Given the description of an element on the screen output the (x, y) to click on. 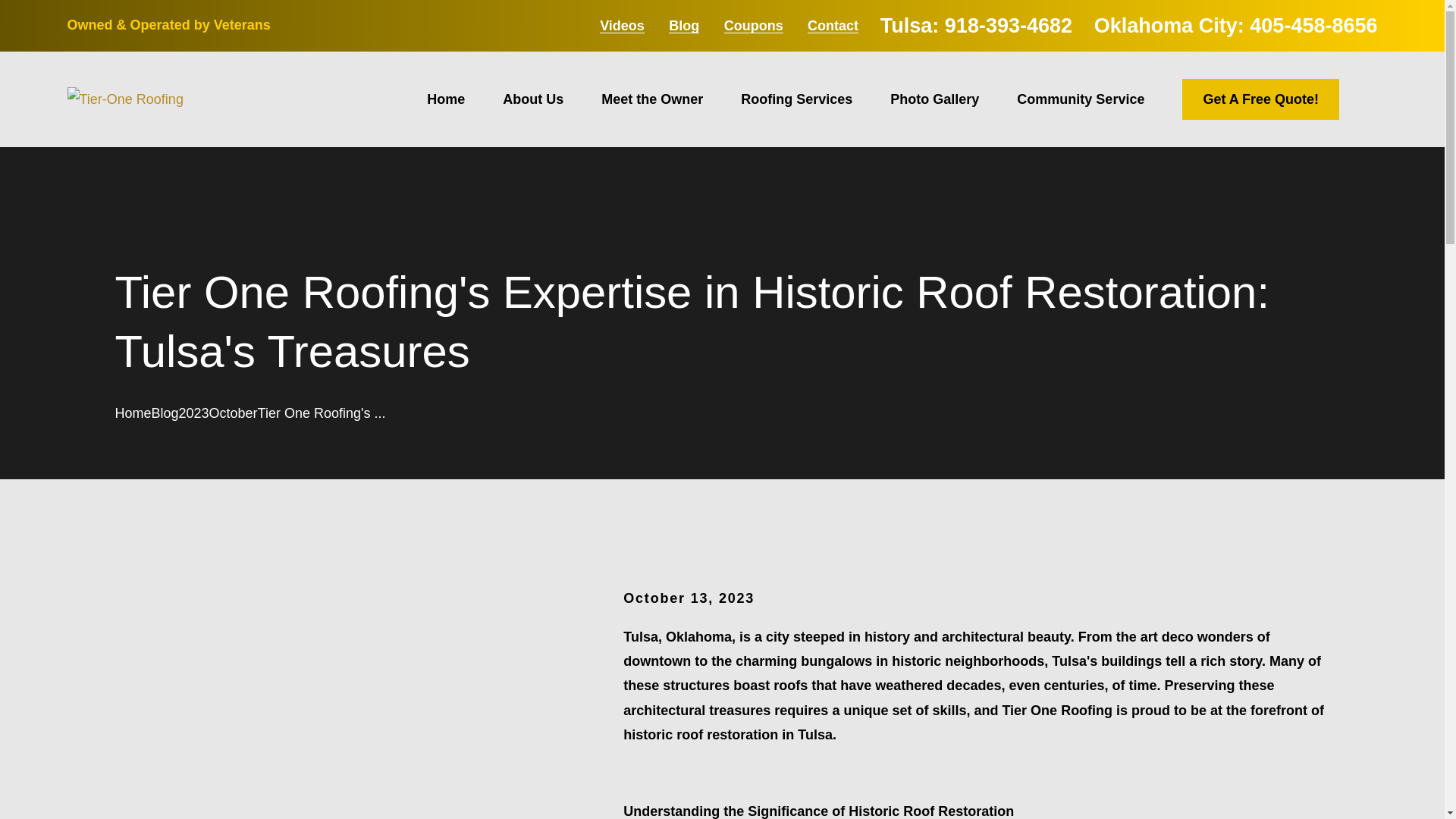
Contact (833, 25)
Oklahoma City: 405-458-8656 (1235, 25)
Go Home (133, 412)
Tulsa: 918-393-4682 (975, 25)
Videos (622, 25)
Blog (683, 25)
Meet the Owner (652, 99)
Community Service (1080, 99)
Home (124, 98)
Coupons (753, 25)
